Given the description of an element on the screen output the (x, y) to click on. 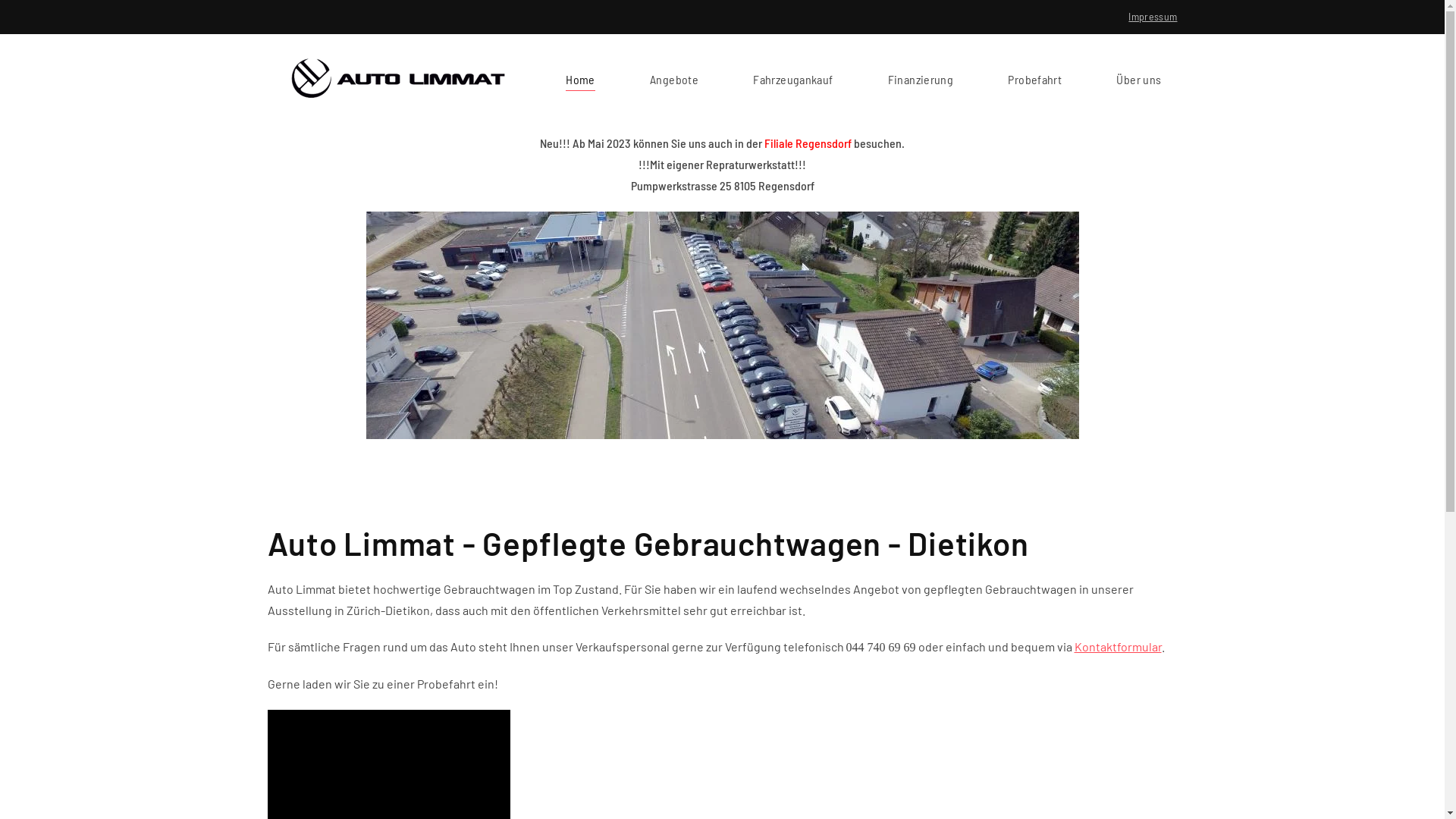
Kontaktformular Element type: text (1117, 646)
Fahrzeugankauf Element type: text (792, 78)
Probefahrt Element type: text (1034, 78)
Angebote Element type: text (673, 78)
Home Element type: text (579, 78)
Finanzierung Element type: text (920, 78)
Impressum Element type: text (1152, 16)
